Given the description of an element on the screen output the (x, y) to click on. 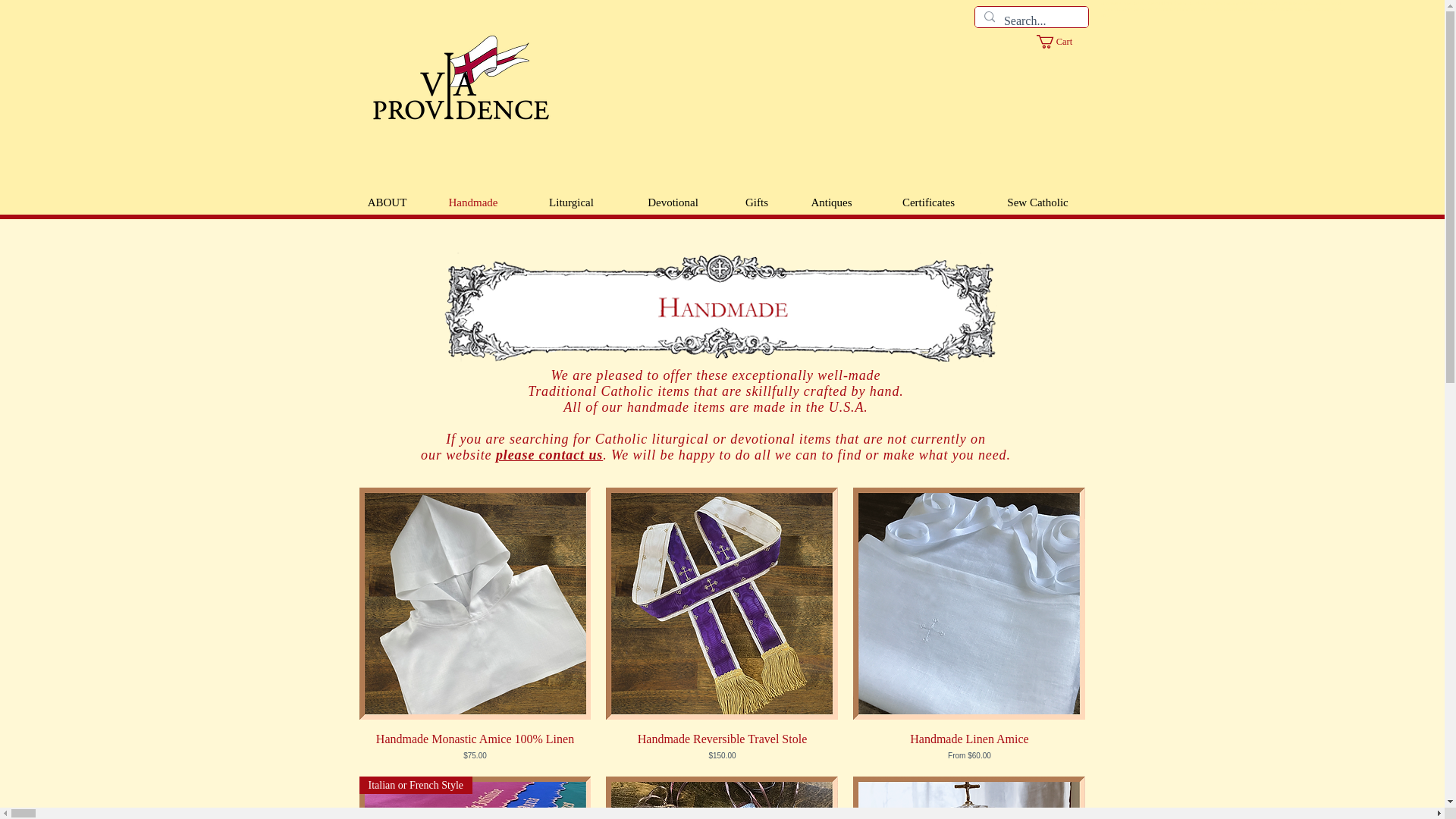
Liturgical (571, 201)
ABOUT (386, 201)
Cart (1061, 41)
please contact us (549, 454)
Handmade (472, 201)
Gifts (756, 201)
Certificates (928, 201)
Italian or French Style (475, 797)
Antiques (831, 201)
Devotional (673, 201)
